Given the description of an element on the screen output the (x, y) to click on. 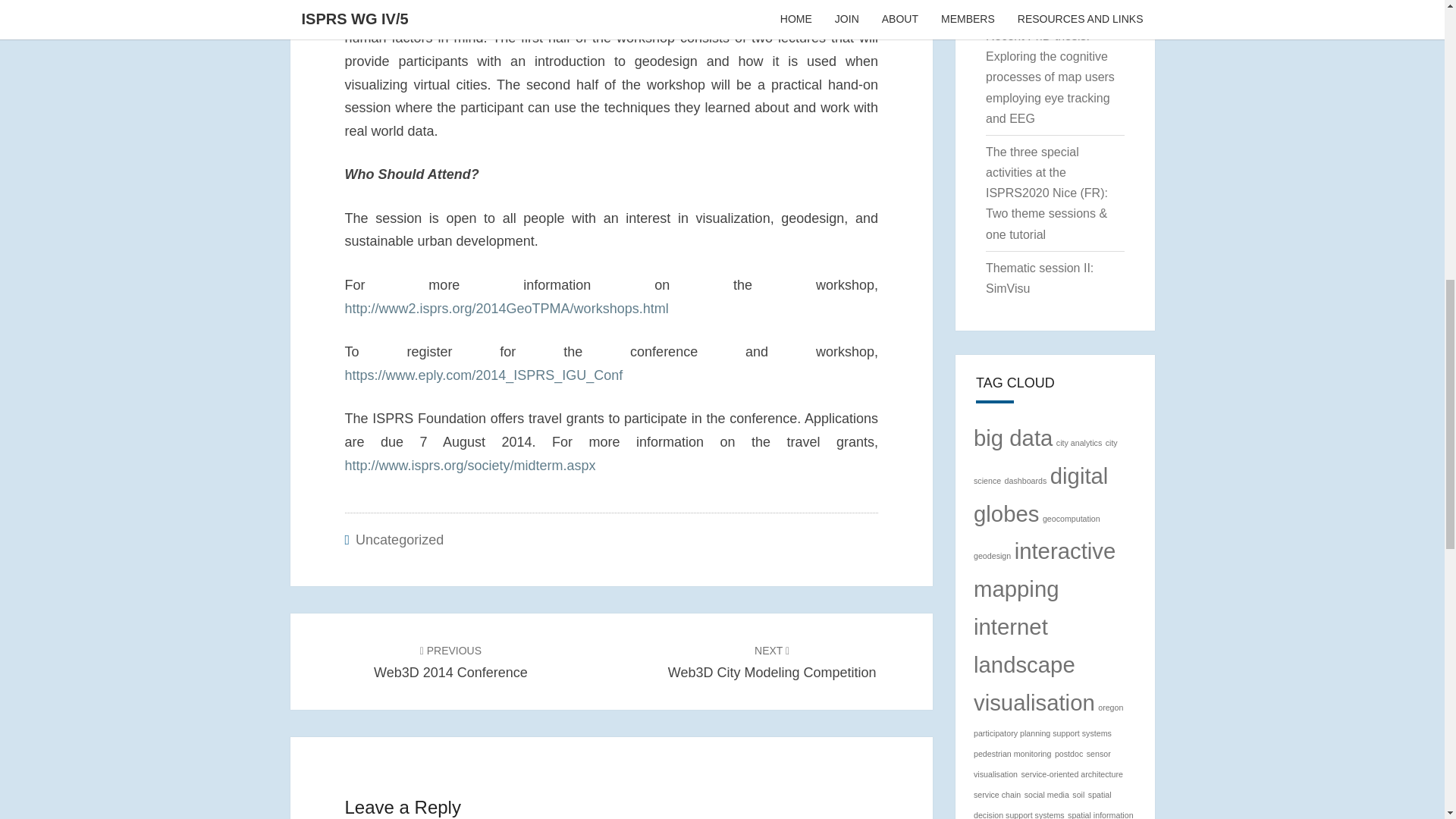
interactive mapping (1044, 569)
city science (1046, 461)
oregon (1109, 706)
city analytics (1079, 442)
digital globes (1041, 494)
dashboards (1025, 480)
landscape visualisation (1034, 682)
Uncategorized (399, 539)
big data (1013, 437)
